Given the description of an element on the screen output the (x, y) to click on. 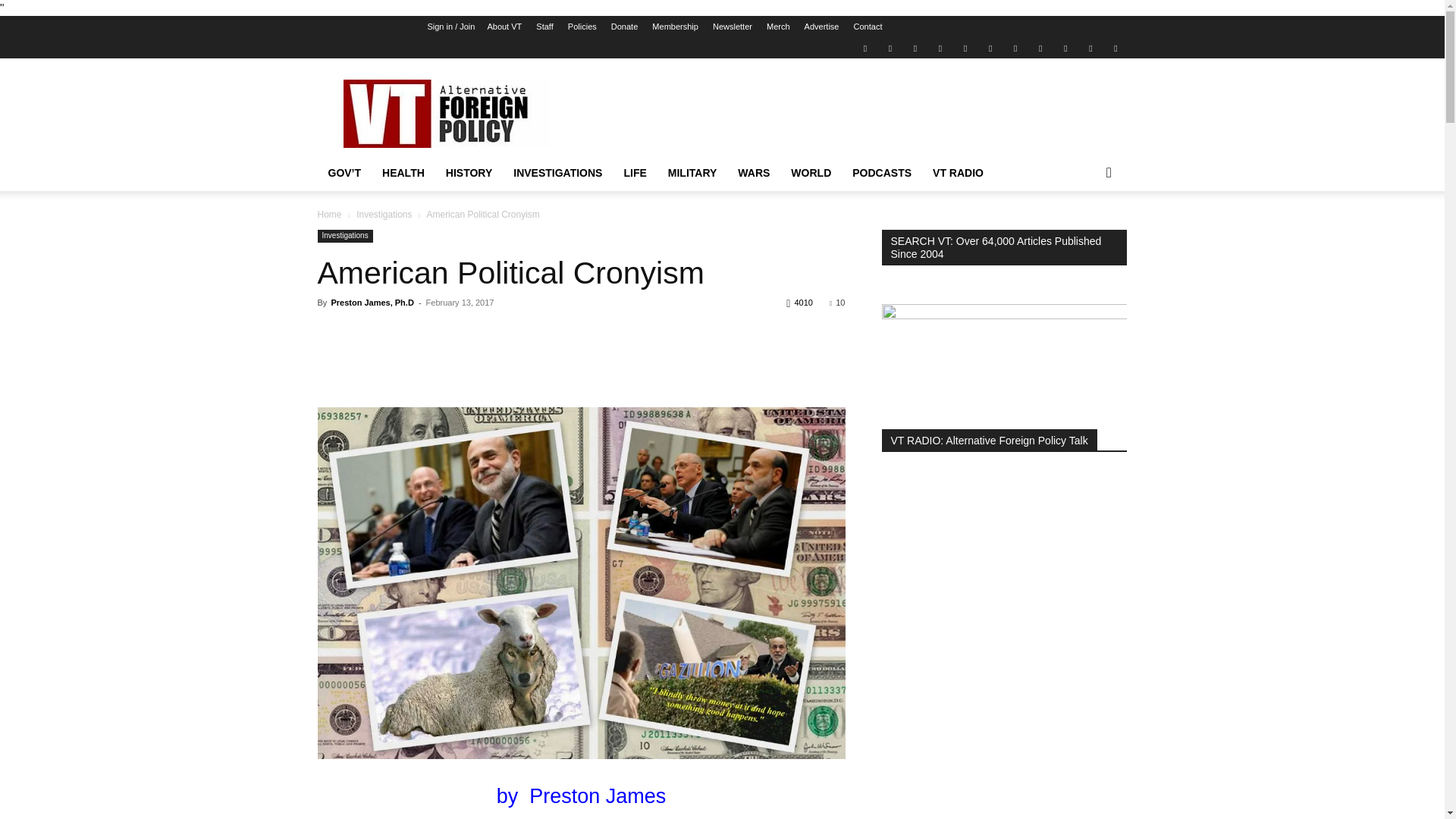
Membership (675, 26)
About VT (503, 26)
Advertise (822, 26)
Merch (778, 26)
Reddit (940, 47)
Donate (624, 26)
Blogger (864, 47)
Staff (544, 26)
Mail (915, 47)
Rumble (964, 47)
Facebook (890, 47)
Policies (581, 26)
Contact (867, 26)
Newsletter (732, 26)
